Given the description of an element on the screen output the (x, y) to click on. 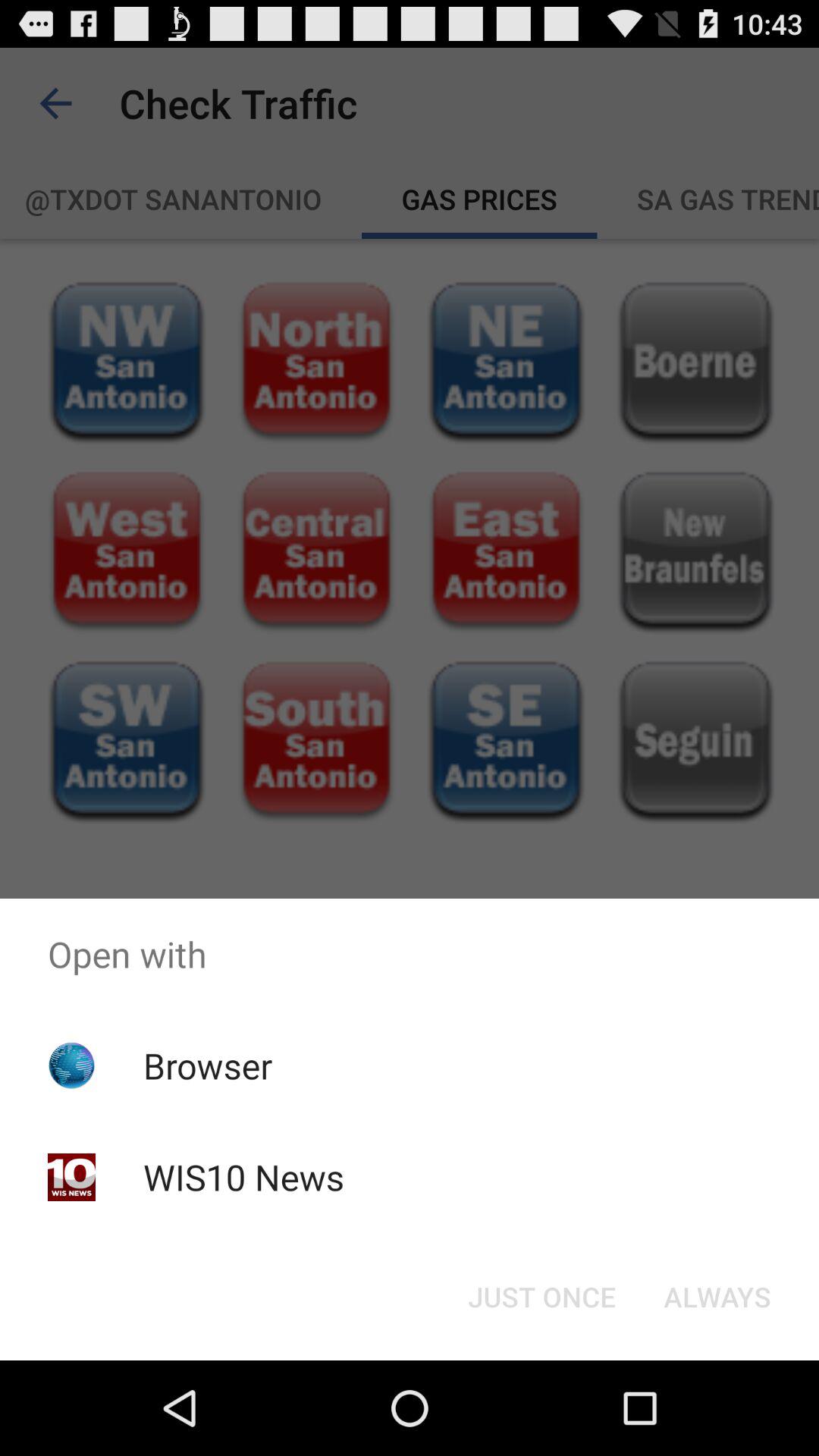
select icon below the open with app (207, 1065)
